Given the description of an element on the screen output the (x, y) to click on. 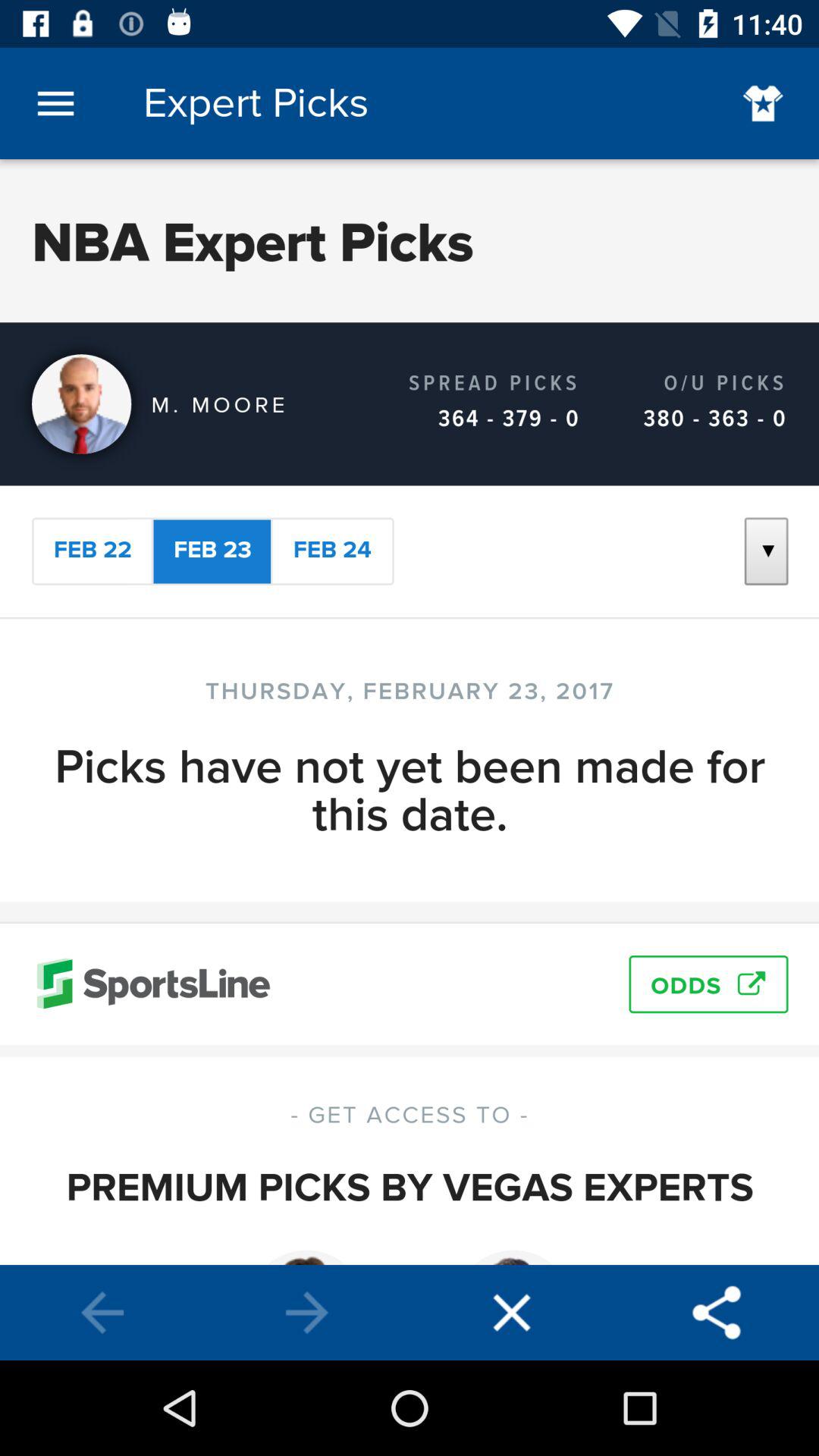
sharing function (716, 1312)
